Given the description of an element on the screen output the (x, y) to click on. 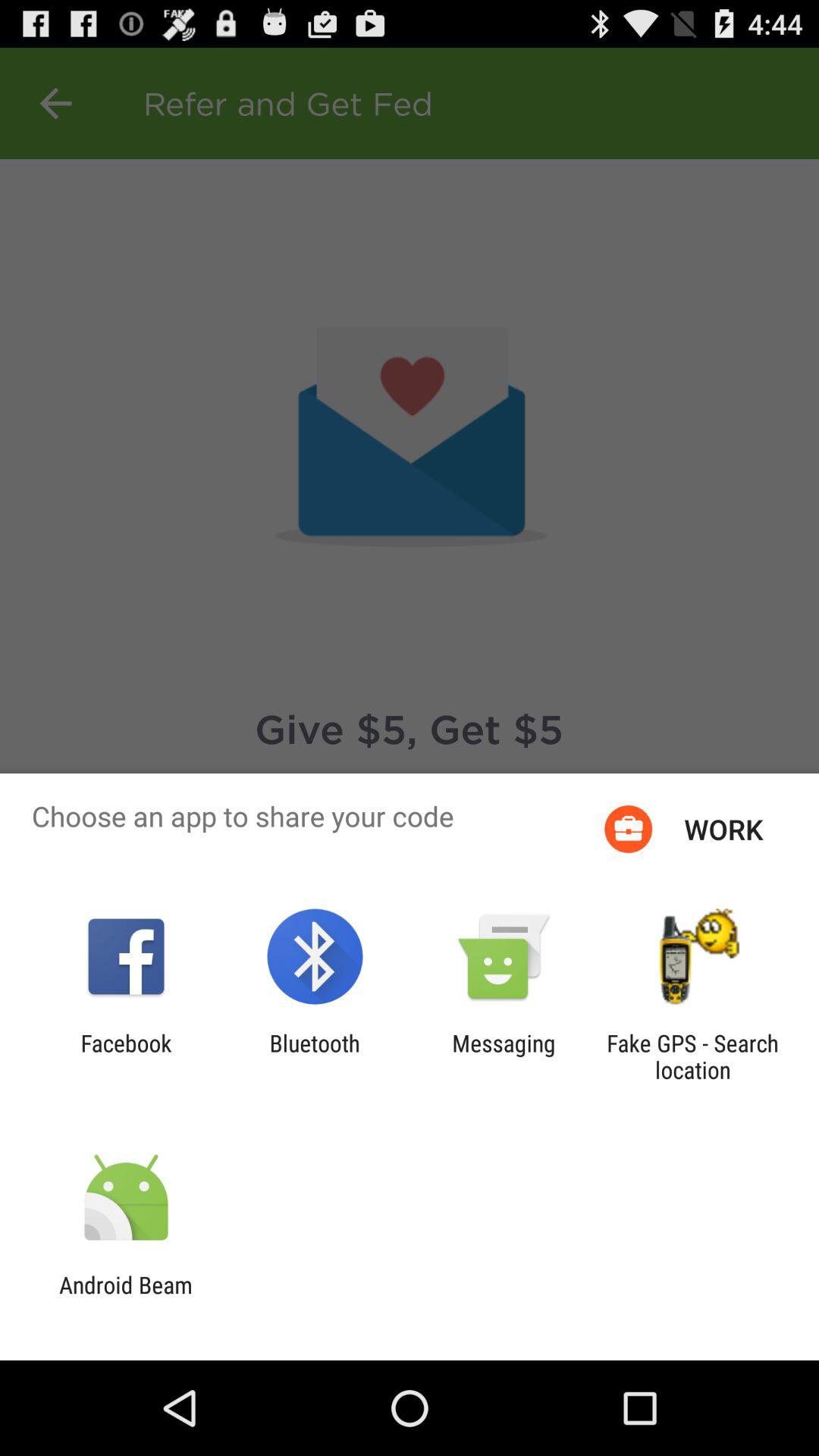
turn on the icon to the left of bluetooth icon (125, 1056)
